Given the description of an element on the screen output the (x, y) to click on. 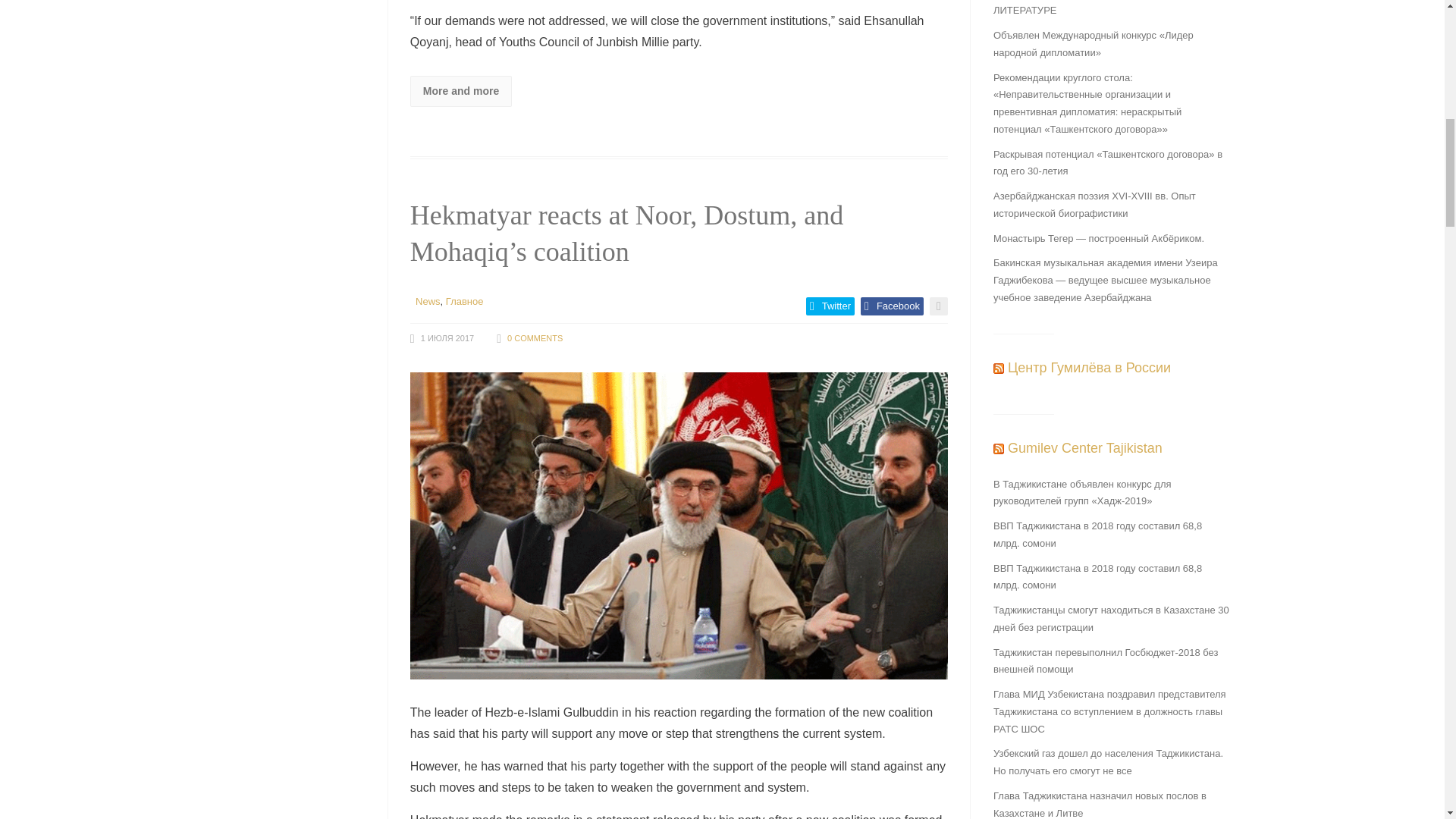
More and more (461, 91)
0 COMMENTS (534, 338)
News (427, 301)
